Given the description of an element on the screen output the (x, y) to click on. 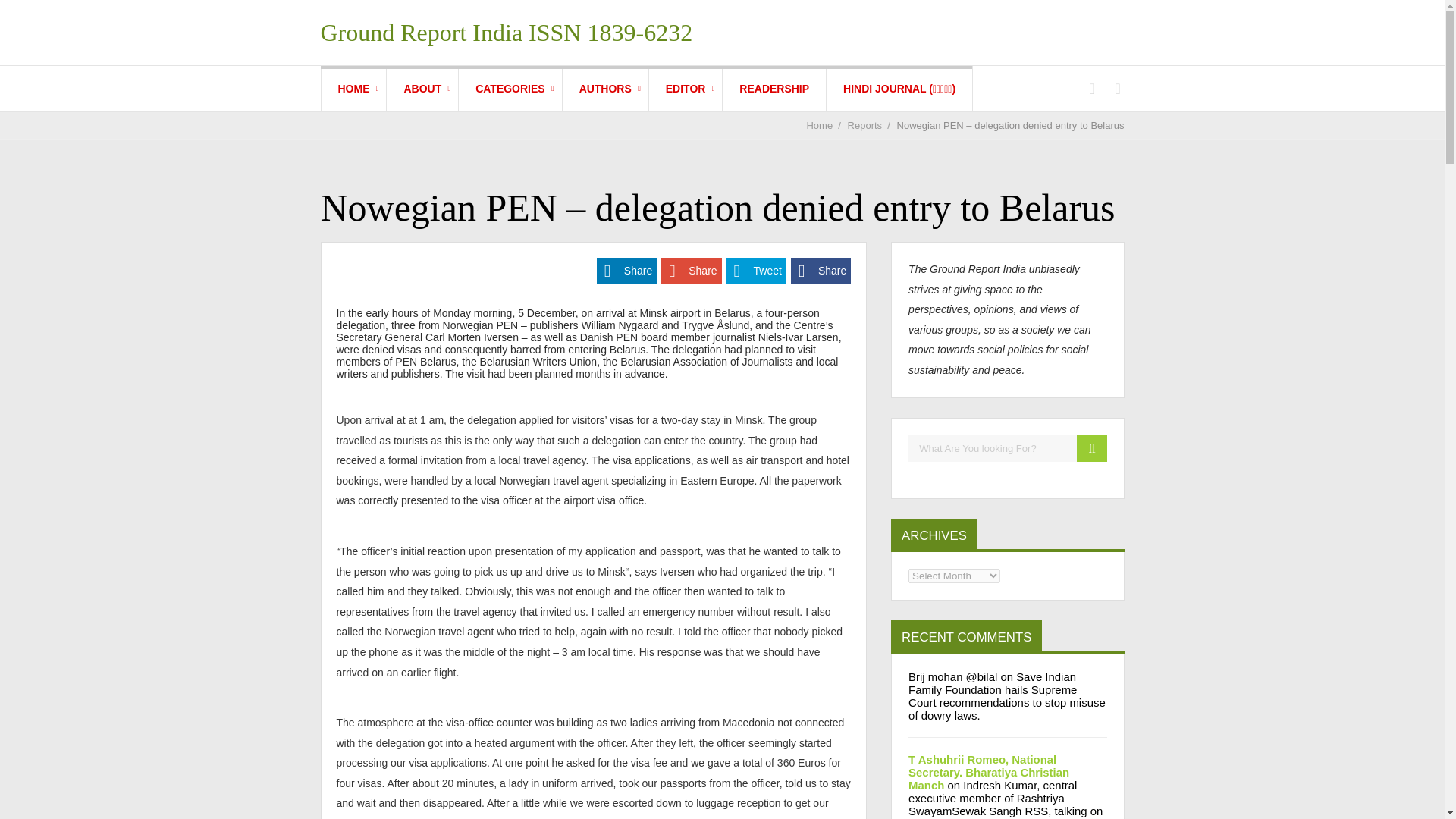
HOME (354, 88)
Ground Report India ISSN 1839-6232 (506, 32)
200,000 subscribers in around 100 countries (773, 88)
ABOUT (422, 88)
CATEGORIES (509, 88)
